Given the description of an element on the screen output the (x, y) to click on. 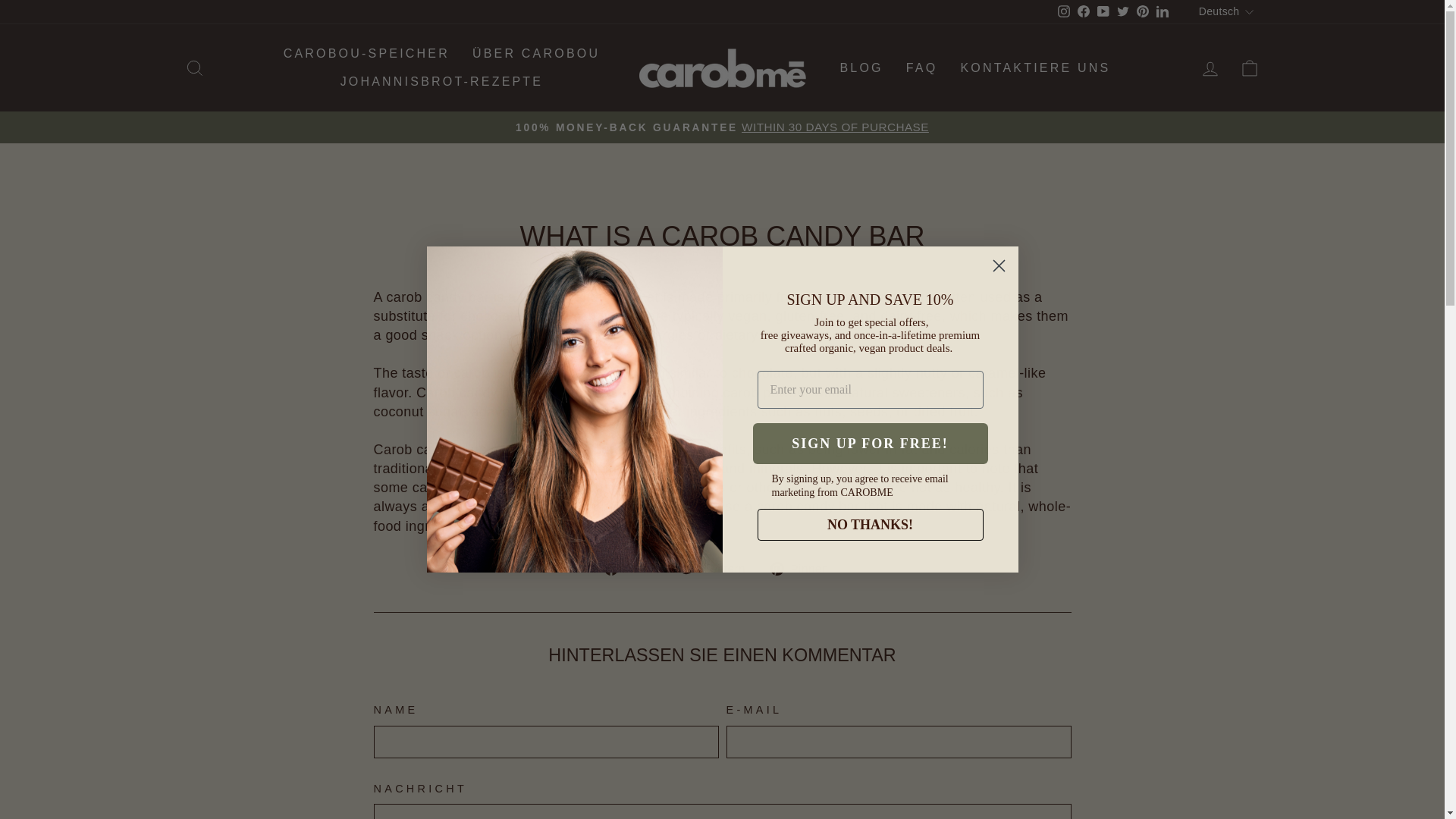
Auf Pinterest pinnen (805, 568)
Auf Facebook teilen (636, 568)
CAROBOU-SPEICHER (366, 53)
Deutsch (1227, 11)
SUCHE (194, 67)
Auf Twitter twittern (719, 568)
